Given the description of an element on the screen output the (x, y) to click on. 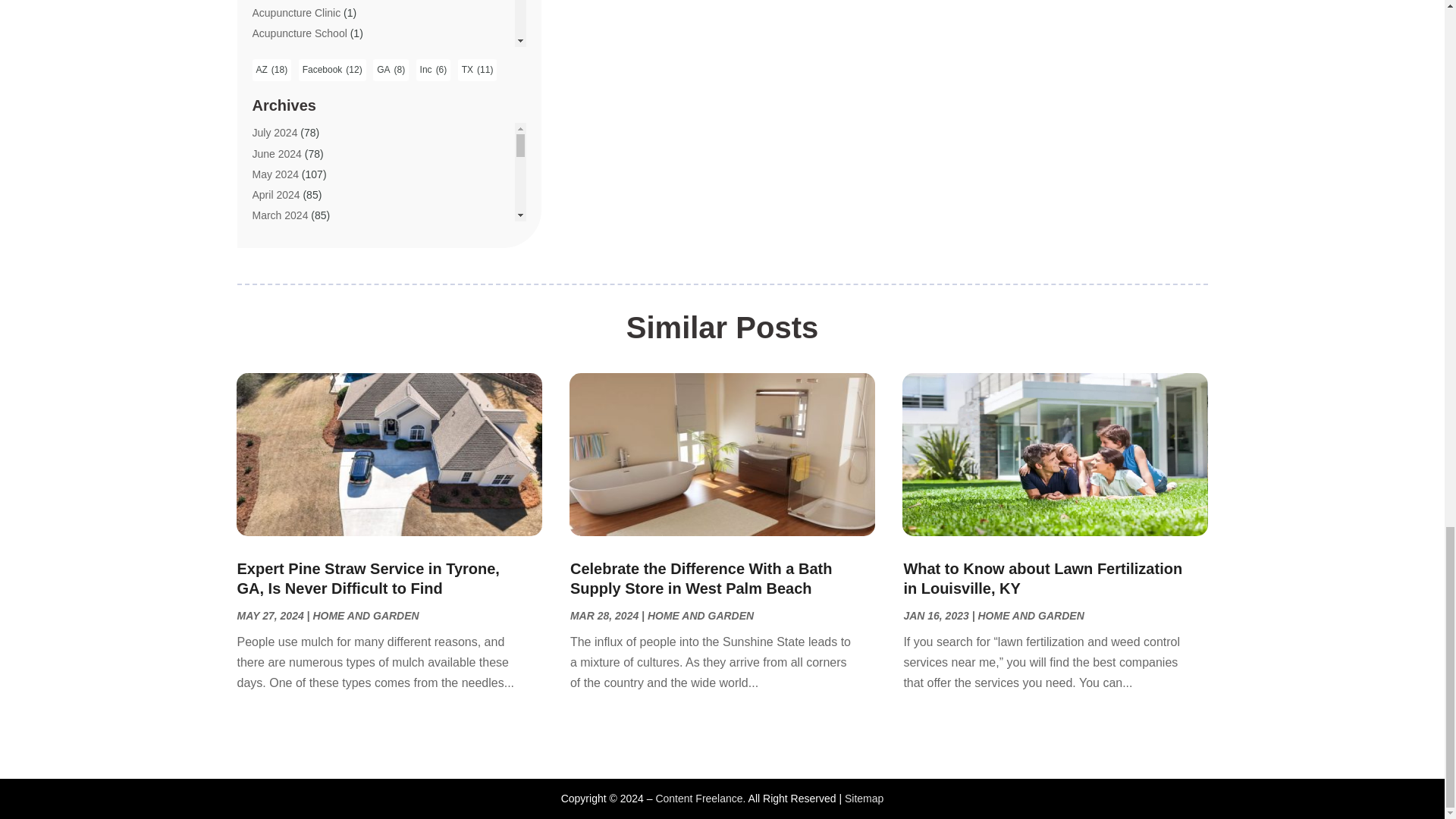
Adoption (272, 73)
Agricultural Service (297, 94)
Air Conditioning Contractors (317, 156)
Air Conditioning (288, 136)
Addiction Treatment (298, 53)
Aircraft GSE (281, 218)
Aircraft (268, 197)
Agriculture And Forestry (308, 115)
Acupuncture School (298, 33)
Air Quality Control System (313, 177)
Acupuncture Clinic (295, 12)
